Given the description of an element on the screen output the (x, y) to click on. 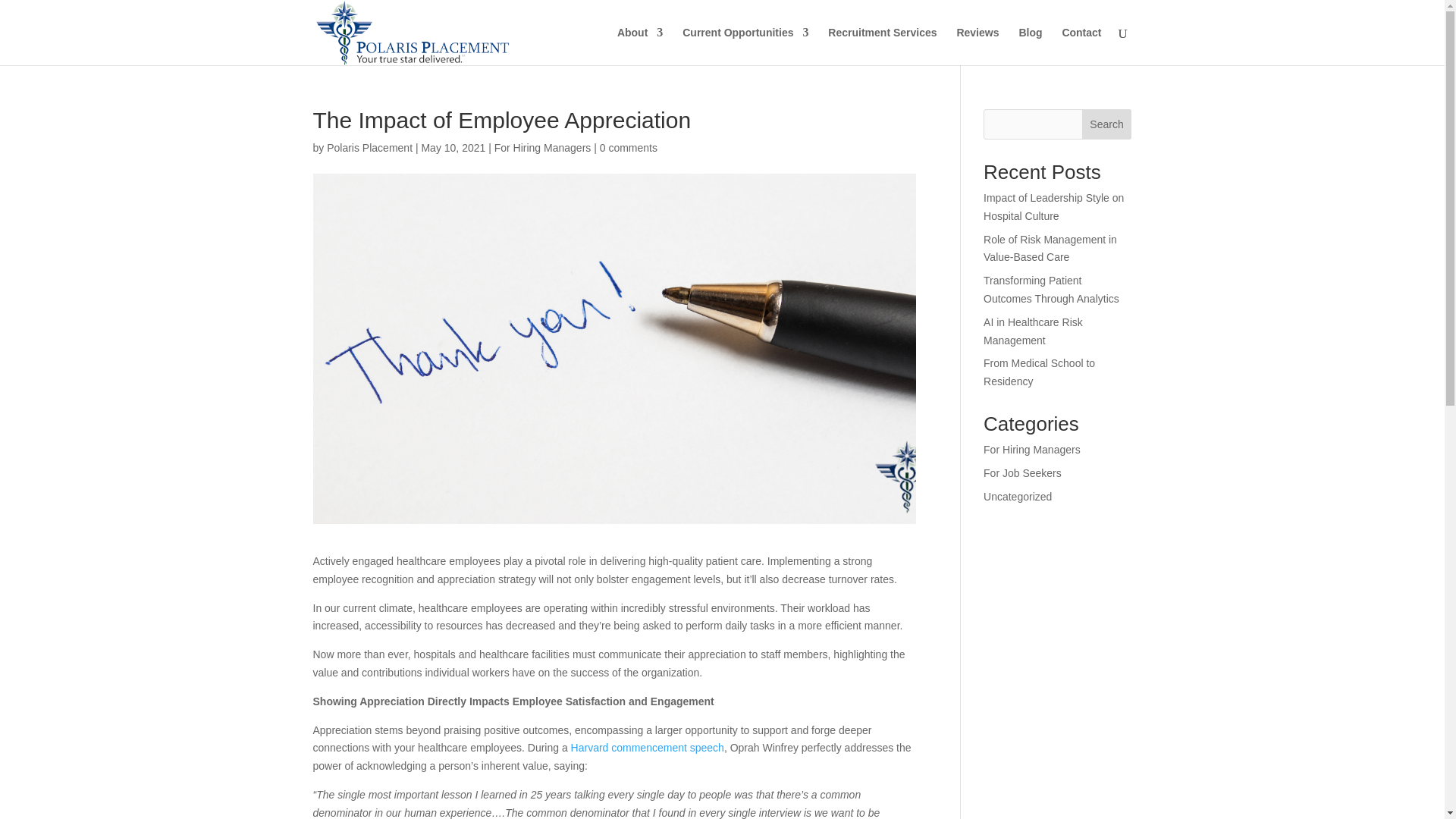
Posts by Polaris Placement (369, 147)
Reviews (977, 46)
Impact of Leadership Style on Hospital Culture (1054, 206)
Harvard commencement speech (646, 747)
For Hiring Managers (543, 147)
Polaris Placement (369, 147)
Transforming Patient Outcomes Through Analytics (1051, 289)
AI in Healthcare Risk Management (1033, 331)
Role of Risk Management in Value-Based Care (1050, 248)
For Job Seekers (1022, 472)
